Given the description of an element on the screen output the (x, y) to click on. 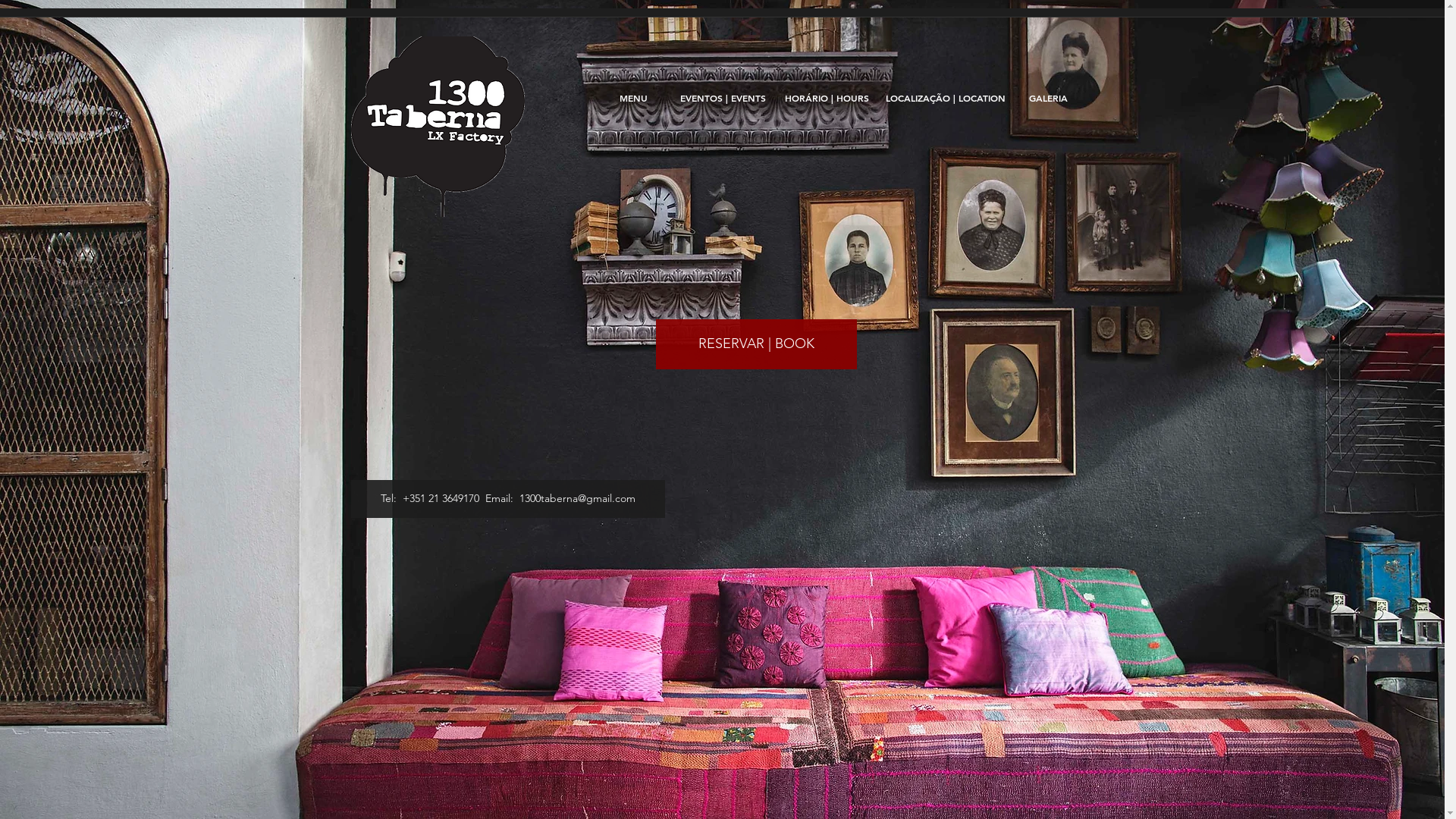
GALERIA Element type: text (1047, 97)
Tel:  +351 21 3649170  Email:  1300taberna@gmail.com Element type: text (507, 498)
EVENTOS | EVENTS Element type: text (723, 97)
RESERVAR | BOOK Element type: text (755, 344)
MENU Element type: text (632, 97)
